Given the description of an element on the screen output the (x, y) to click on. 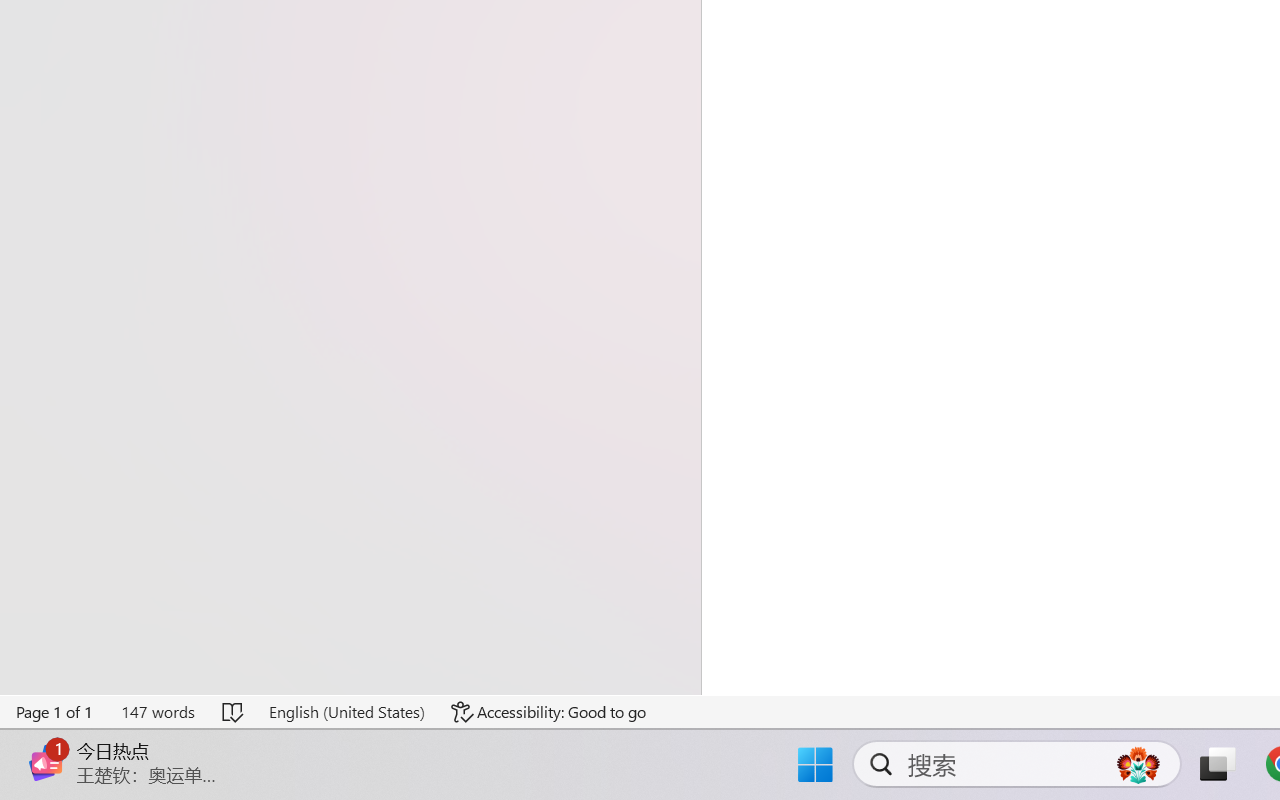
Page Number Page 1 of 1 (55, 712)
